Given the description of an element on the screen output the (x, y) to click on. 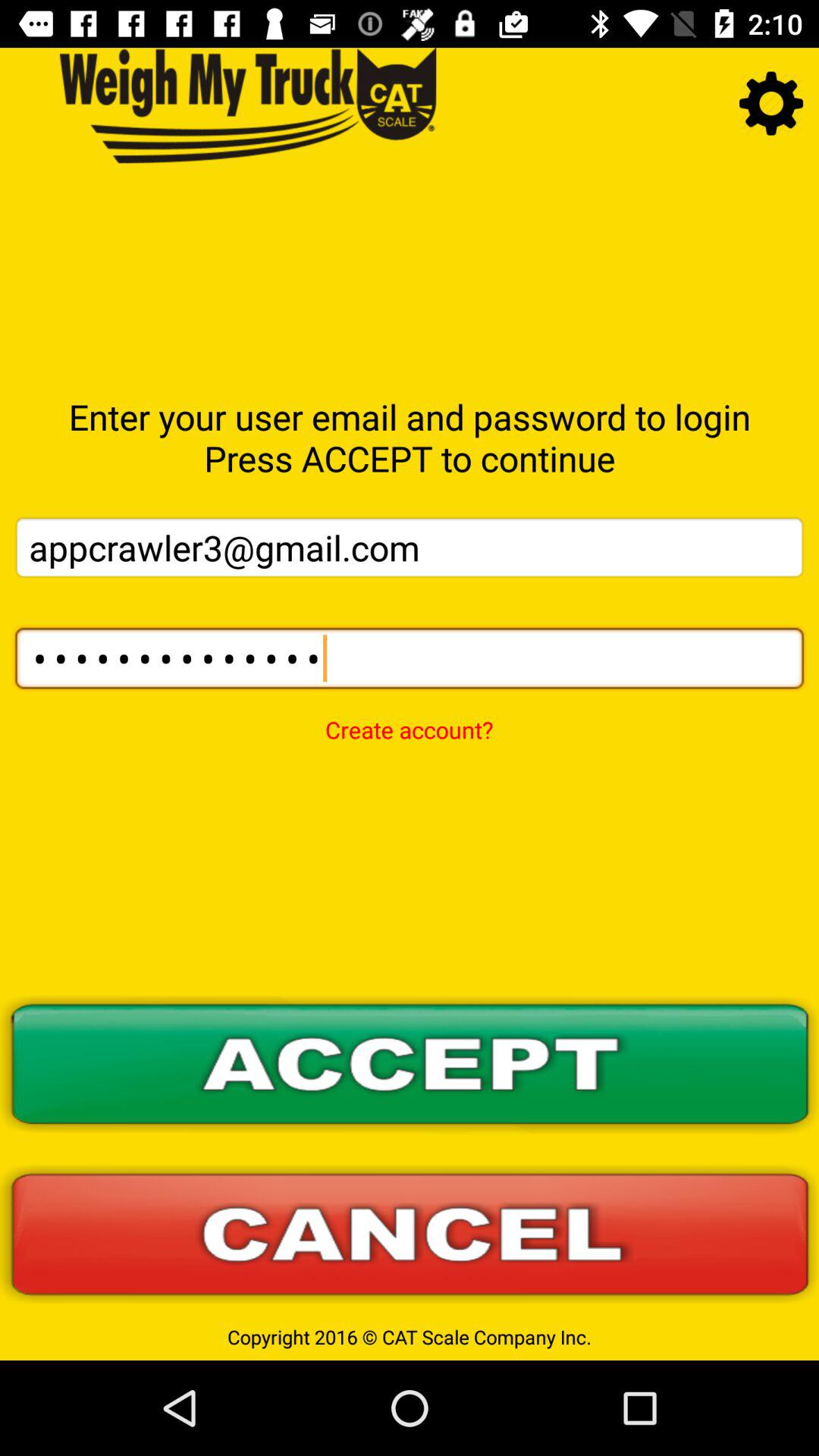
select the appcrawler3@gmail.com (409, 546)
